Given the description of an element on the screen output the (x, y) to click on. 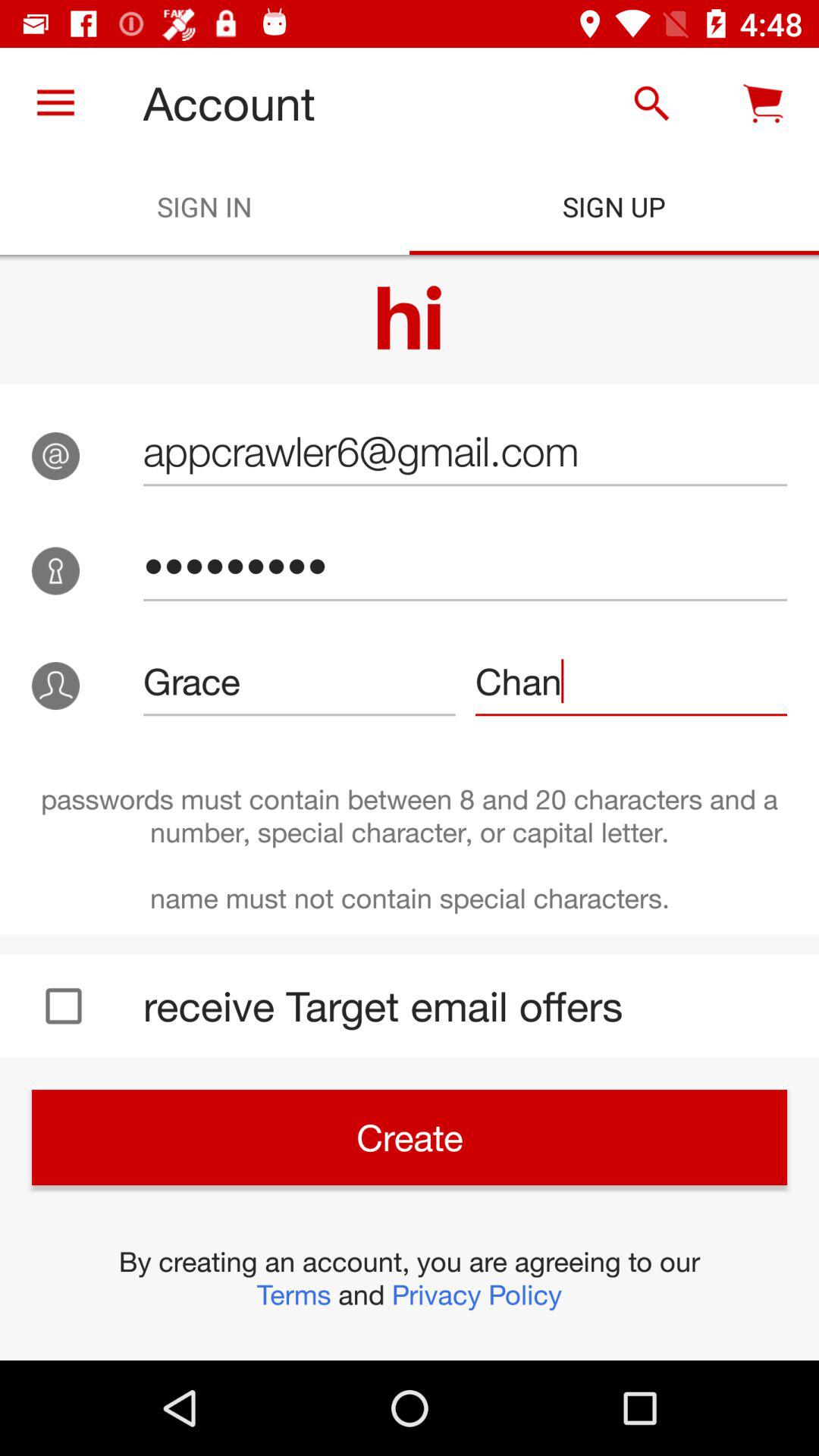
tap the grace item (299, 681)
